Given the description of an element on the screen output the (x, y) to click on. 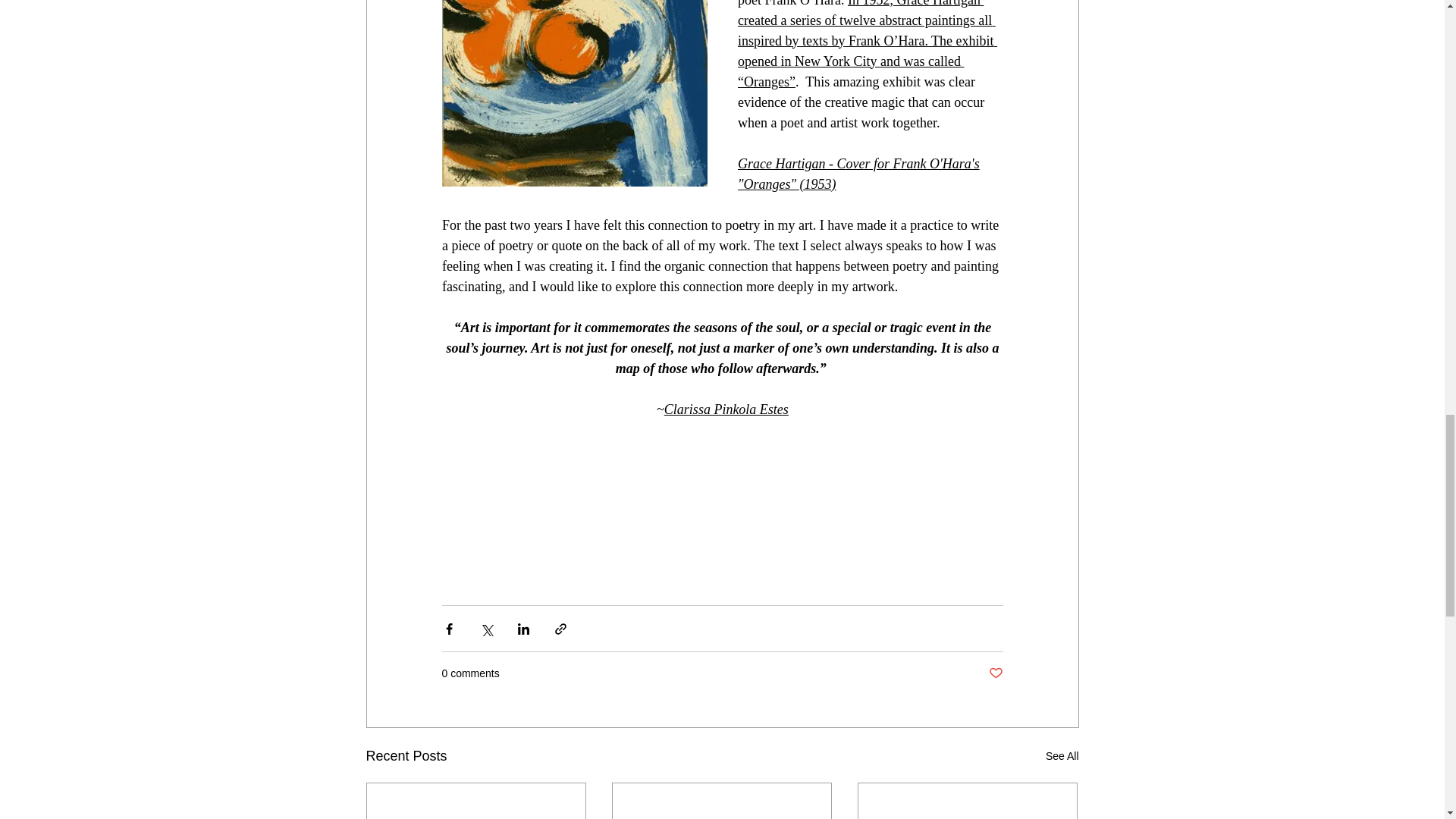
Post not marked as liked (995, 673)
See All (1061, 756)
Grace Hartigan - Cover for Frank O'Hara's (857, 162)
Clarissa Pinkola Estes (725, 408)
